Given the description of an element on the screen output the (x, y) to click on. 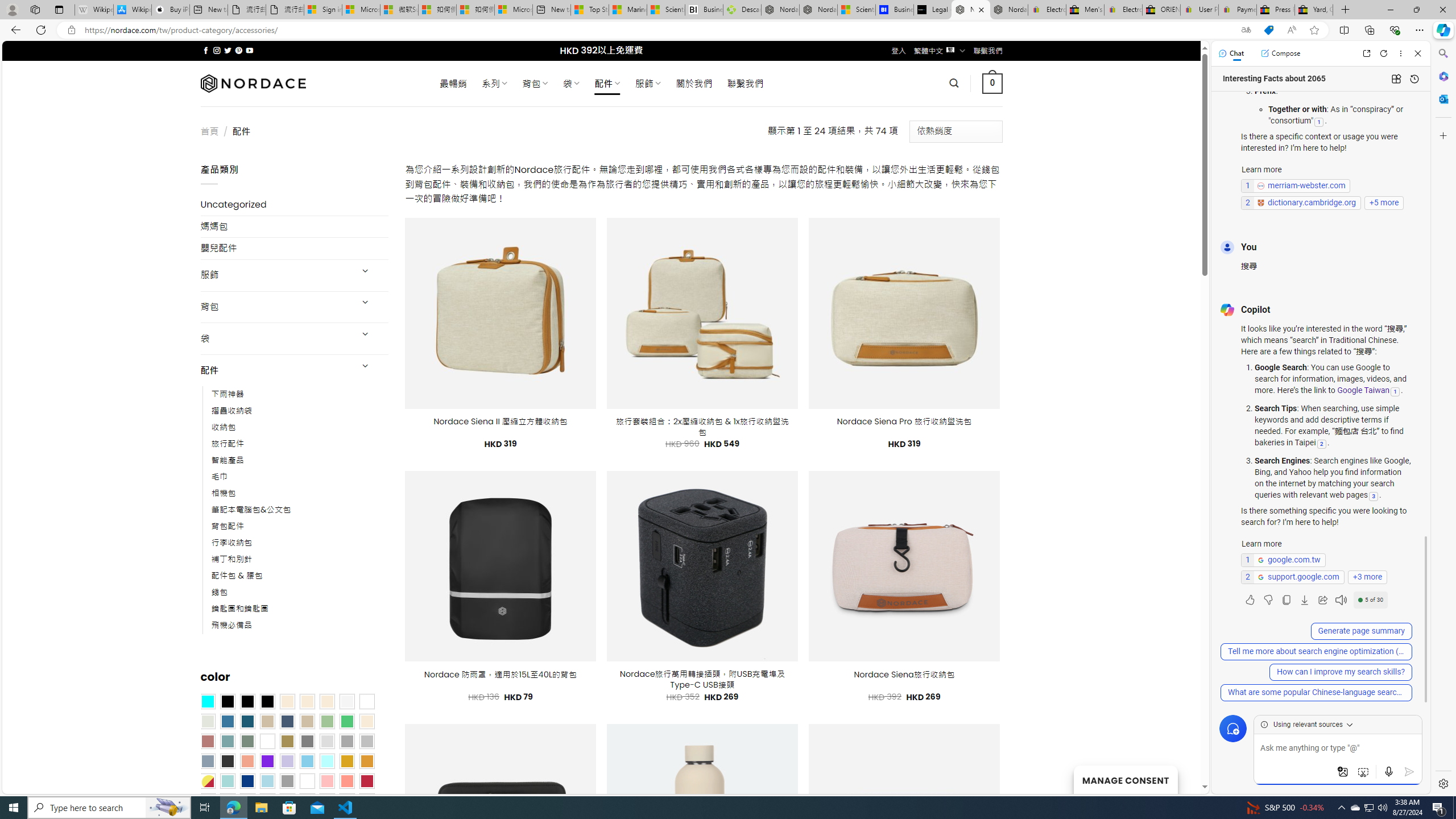
This site has coupons! Shopping in Microsoft Edge (1268, 29)
